Given the description of an element on the screen output the (x, y) to click on. 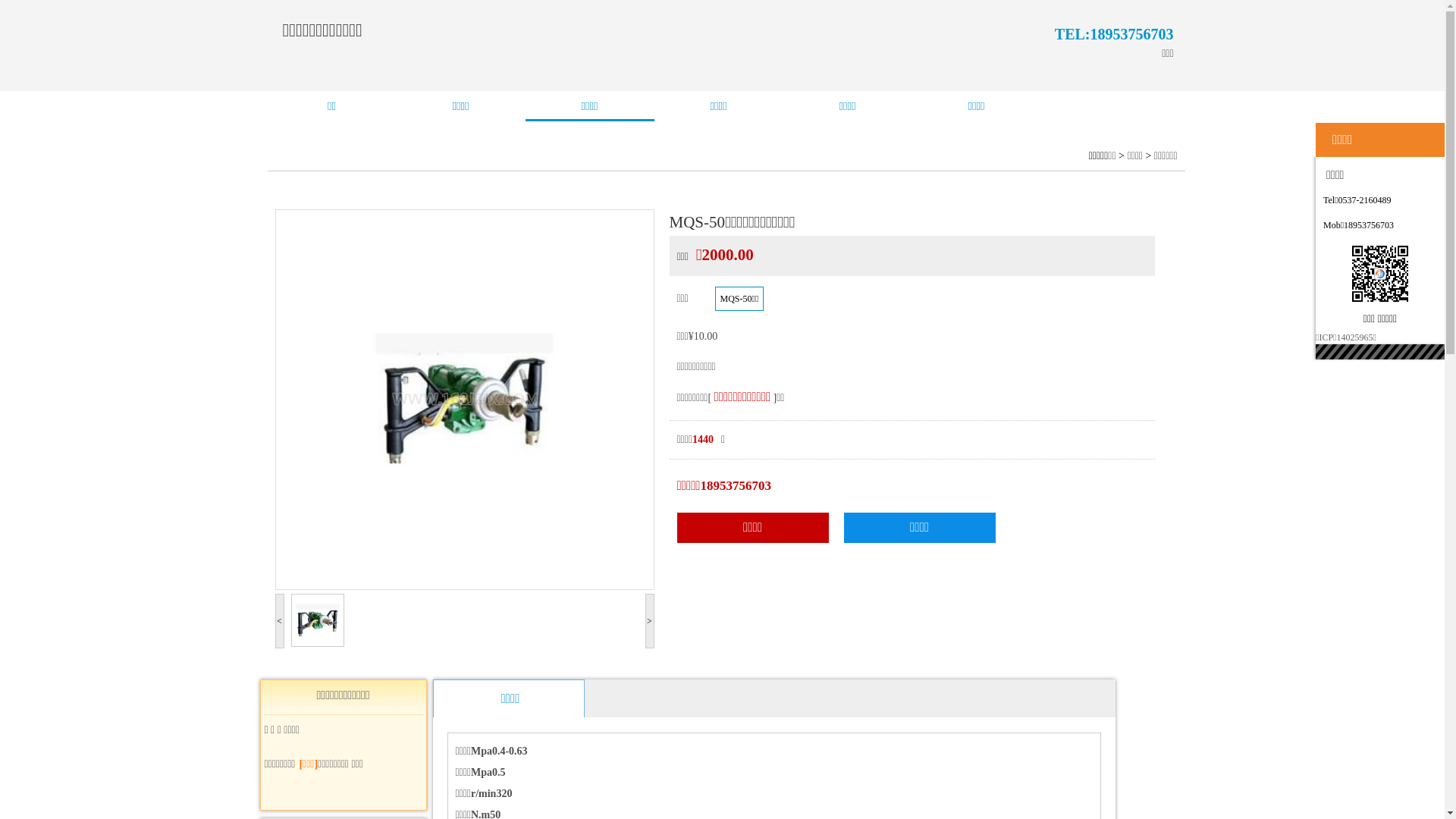
> Element type: text (648, 620)
< Element type: text (278, 620)
